Given the description of an element on the screen output the (x, y) to click on. 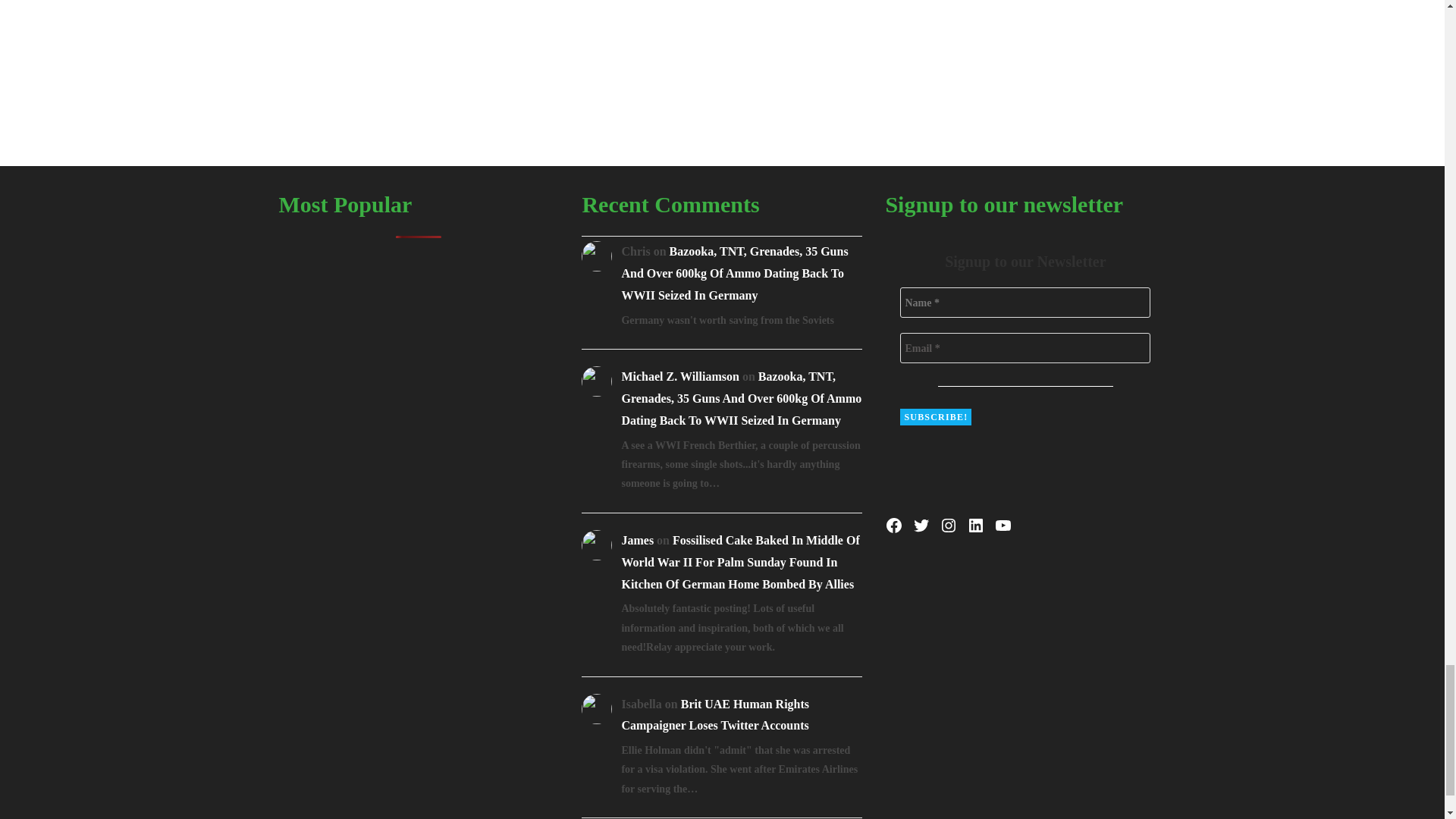
Subscribe! (935, 416)
Email (1024, 347)
Name (1024, 302)
